Given the description of an element on the screen output the (x, y) to click on. 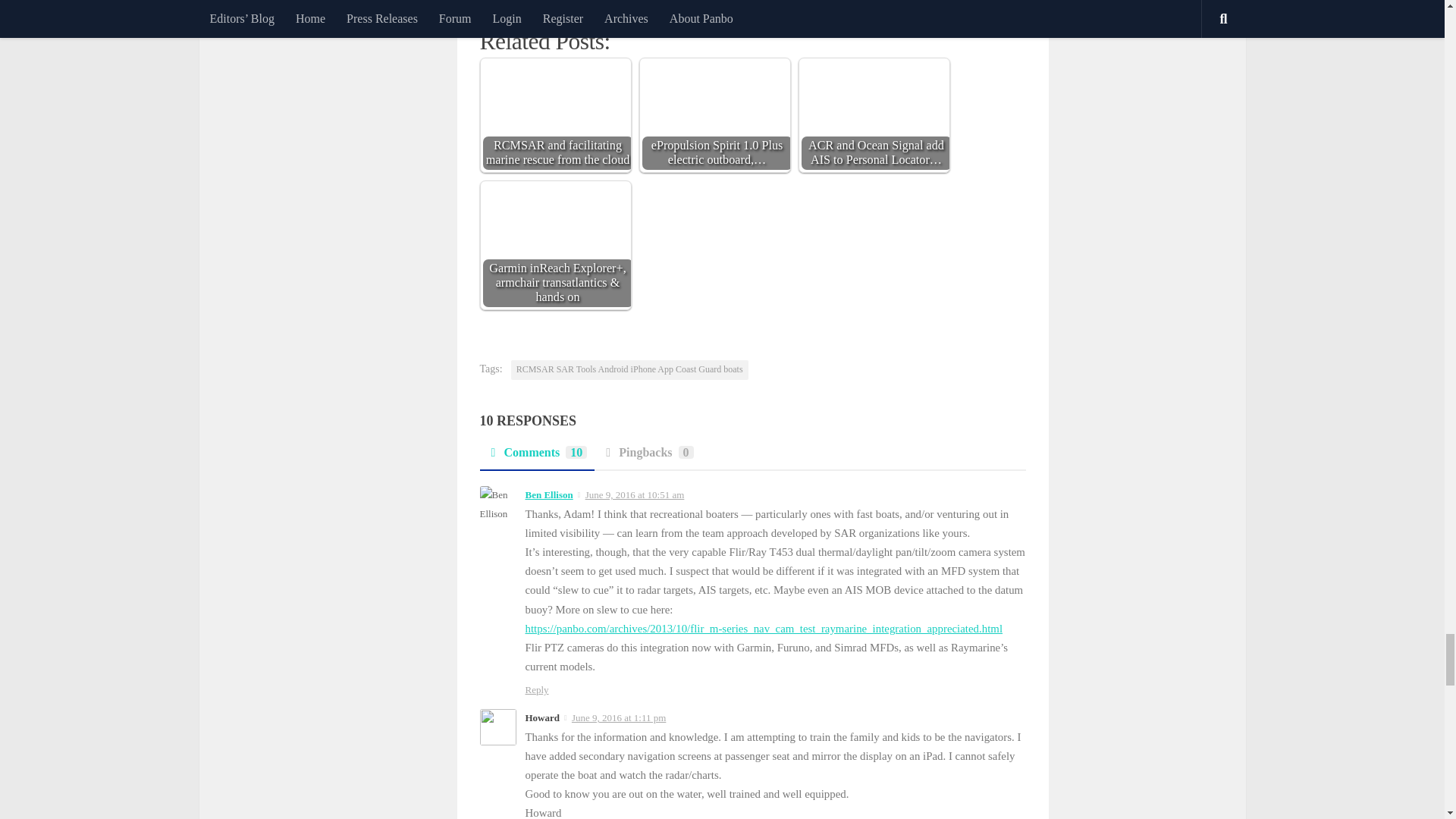
RCMSAR and facilitating marine rescue from the cloud (555, 117)
